Given the description of an element on the screen output the (x, y) to click on. 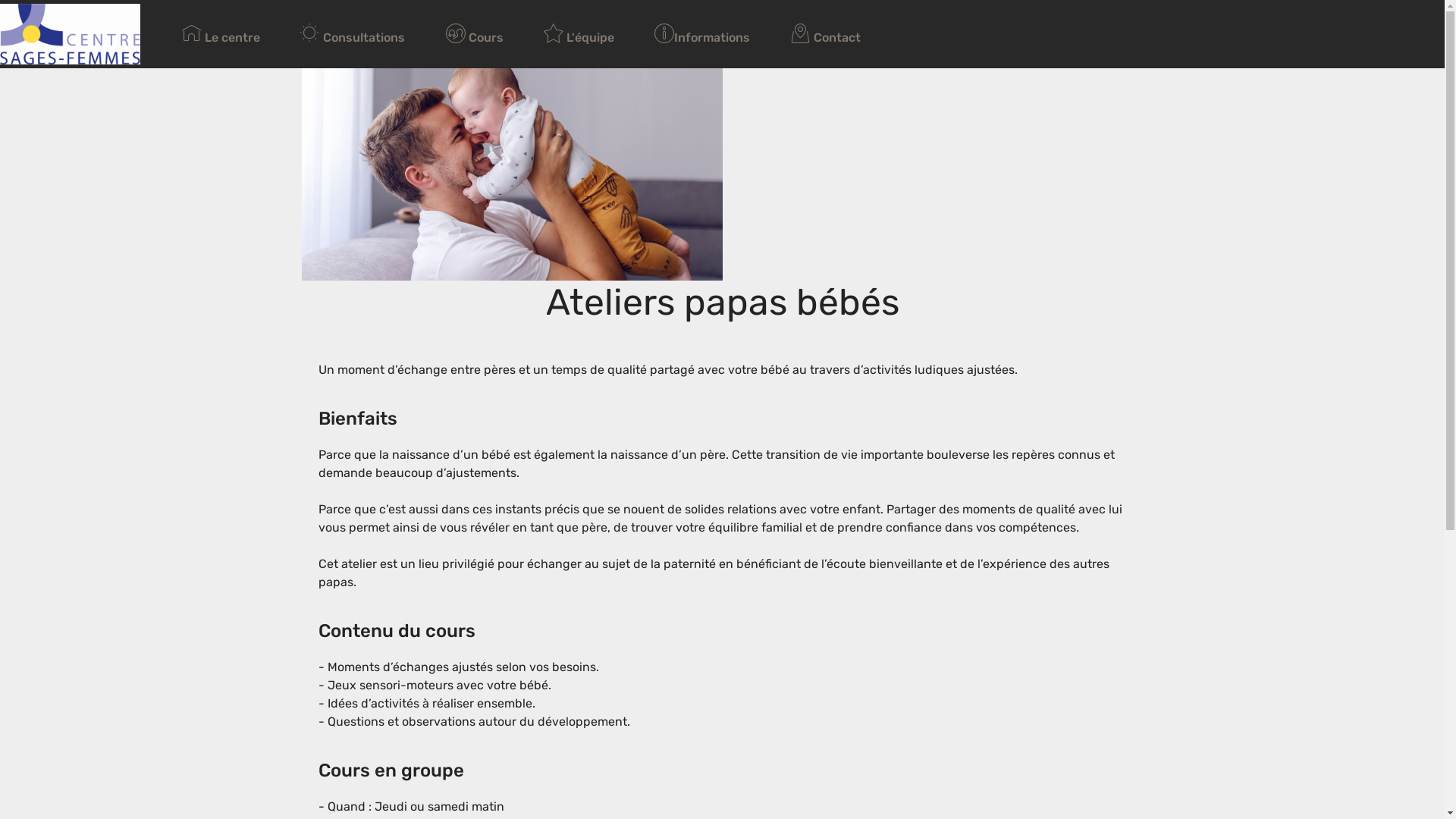
Informations Element type: text (702, 33)
Cours Element type: text (474, 33)
Consultations Element type: text (352, 33)
Le centre Element type: text (220, 33)
Contact Element type: text (825, 33)
